Given the description of an element on the screen output the (x, y) to click on. 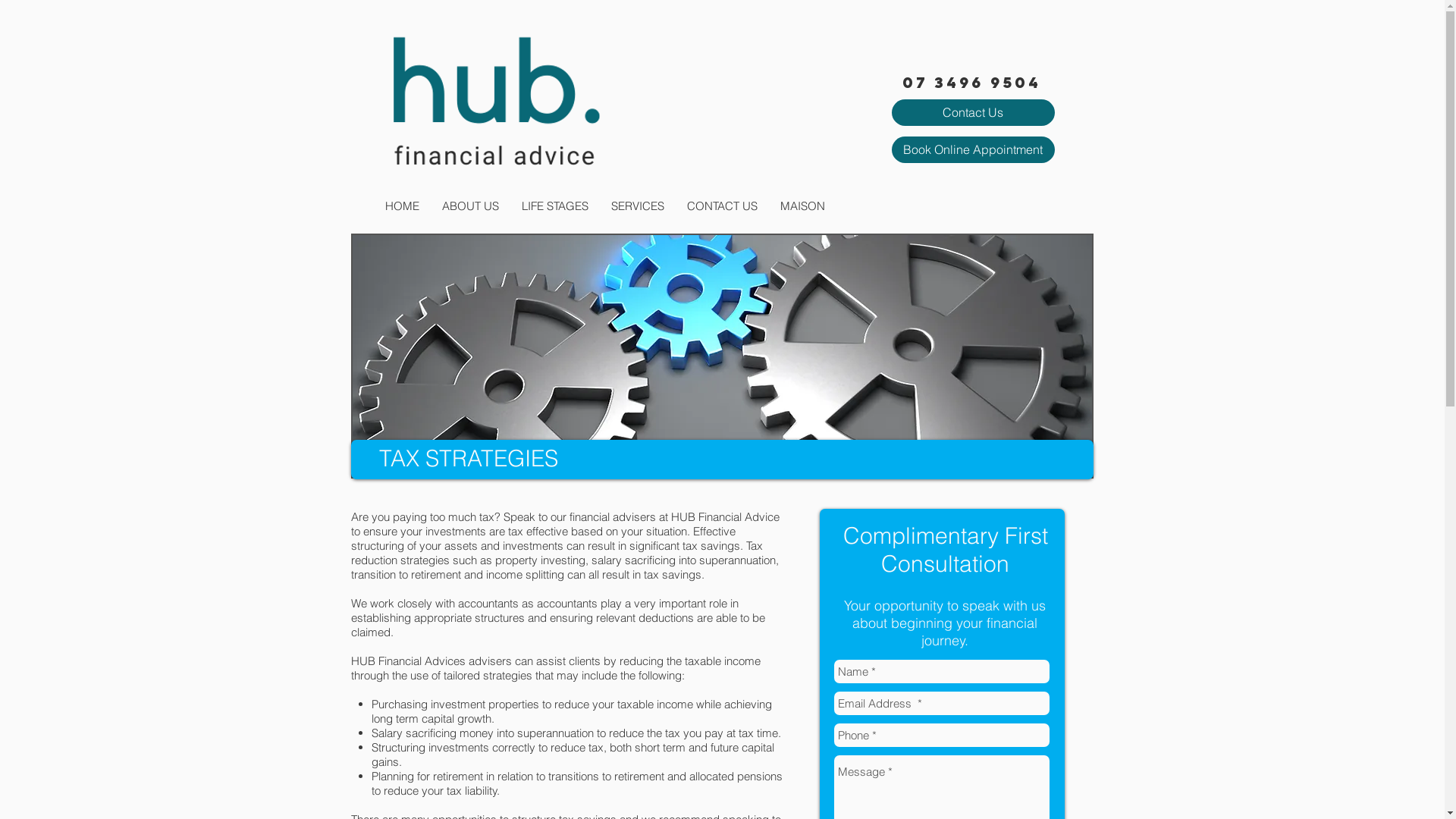
MAISON Element type: text (802, 205)
3 Gears  Element type: hover (721, 355)
Contact Us Element type: text (972, 112)
Book Online Appointment Element type: text (972, 149)
CONTACT US Element type: text (721, 205)
ABOUT US Element type: text (470, 205)
HOME Element type: text (401, 205)
